Given the description of an element on the screen output the (x, y) to click on. 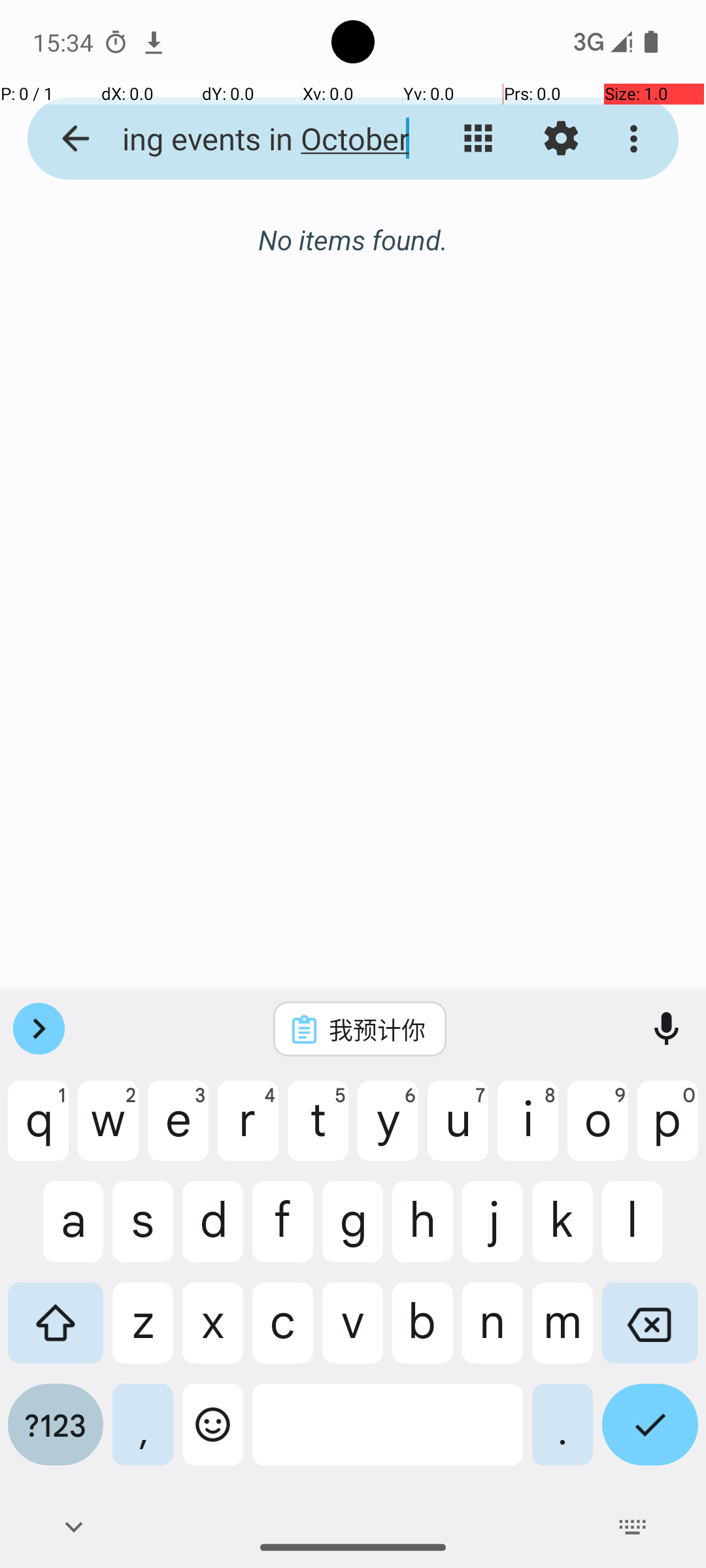
upcoming events in October Element type: android.widget.EditText (252, 138)
我预计你 Element type: android.widget.TextView (376, 1028)
